Given the description of an element on the screen output the (x, y) to click on. 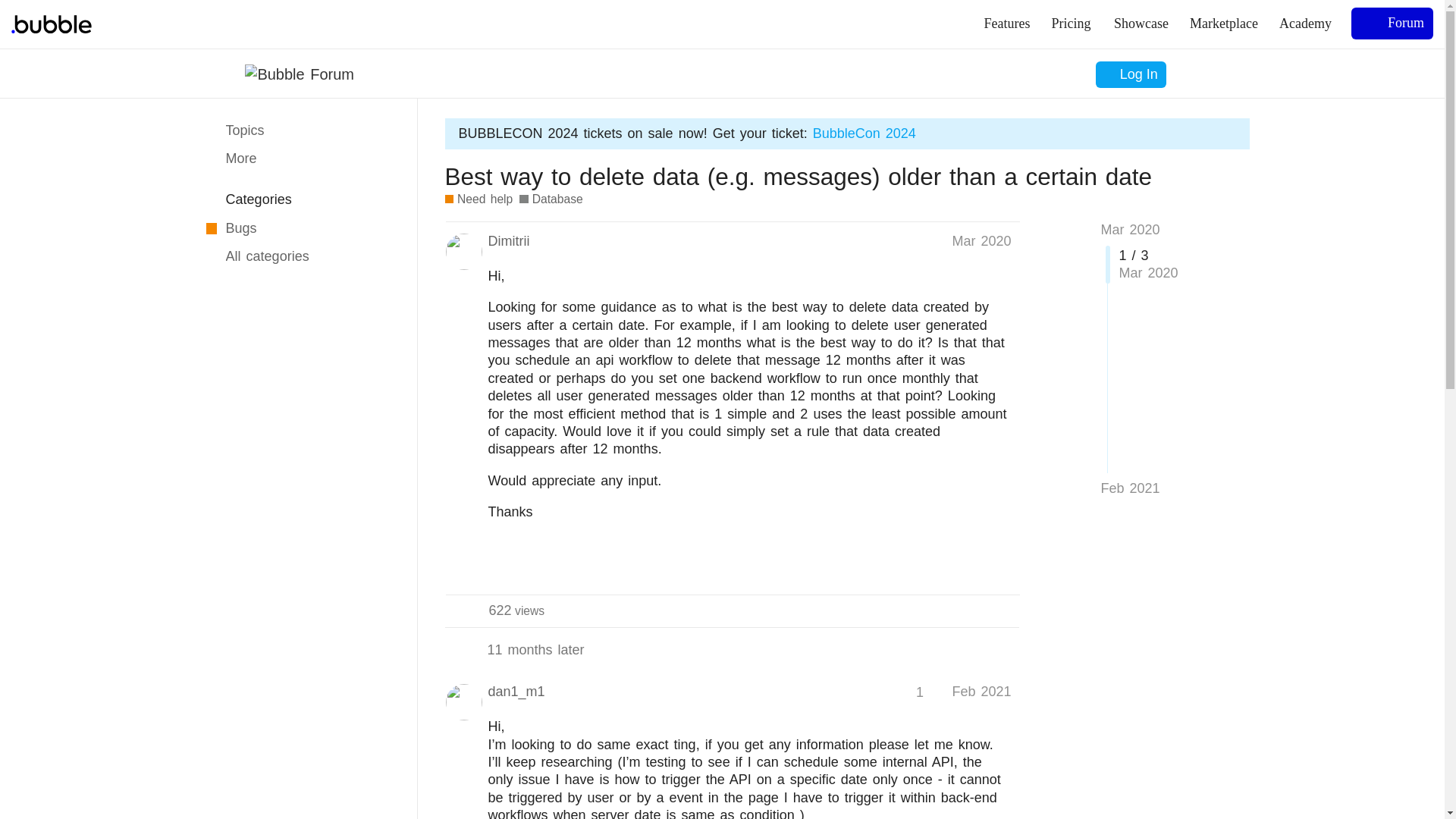
Forum (1391, 23)
Post date (981, 691)
Academy (516, 610)
Marketplace (1304, 24)
Showcase (1223, 24)
More (1141, 24)
1 (300, 158)
copy a link to this post to clipboard (927, 692)
All topics (1004, 566)
